Given the description of an element on the screen output the (x, y) to click on. 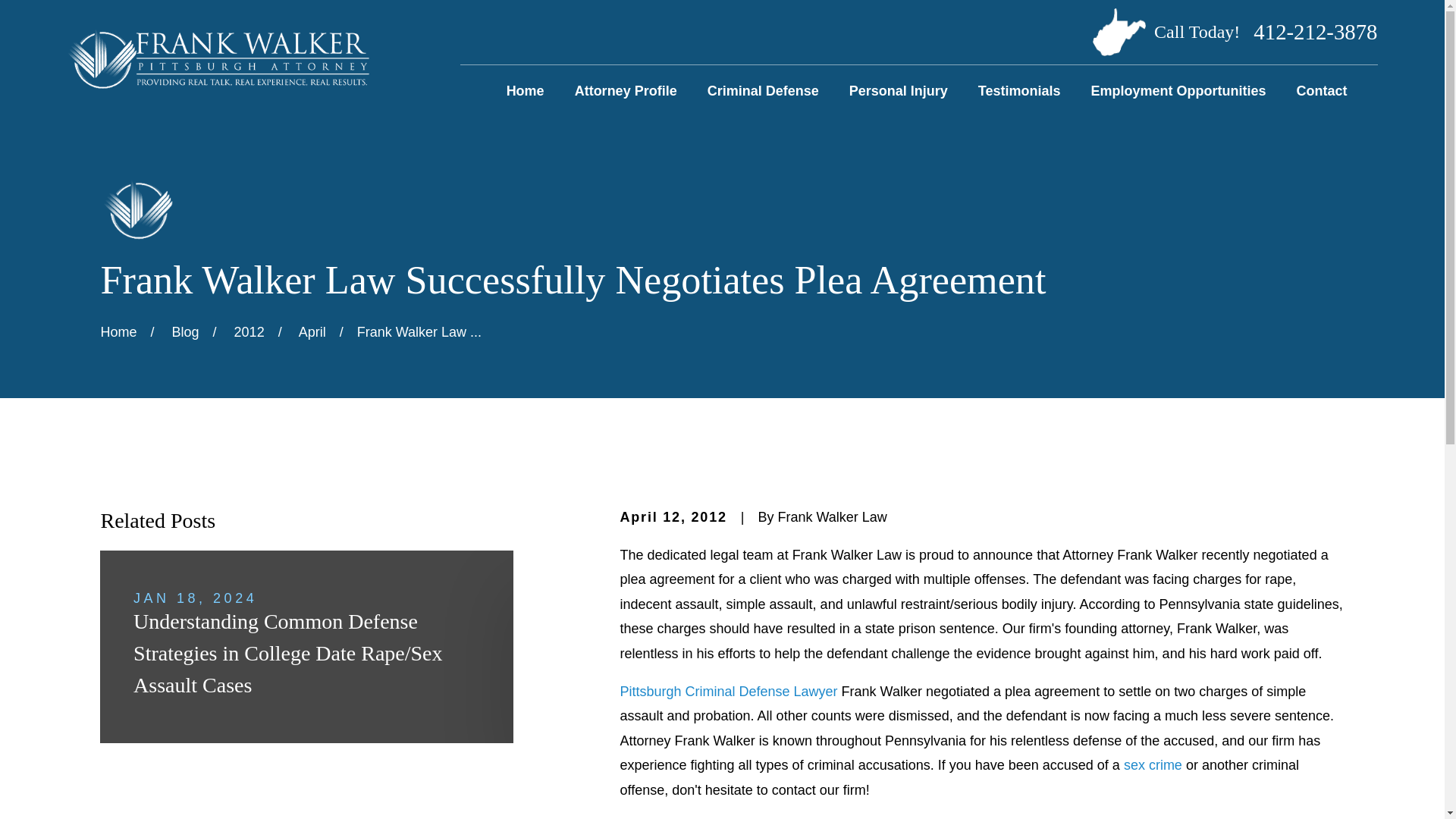
Go Home (118, 331)
Criminal Defense (762, 90)
412-212-3878 (1315, 32)
Home (525, 90)
Home (217, 58)
Frank Walker Law (217, 58)
Attorney Profile (626, 90)
